Given the description of an element on the screen output the (x, y) to click on. 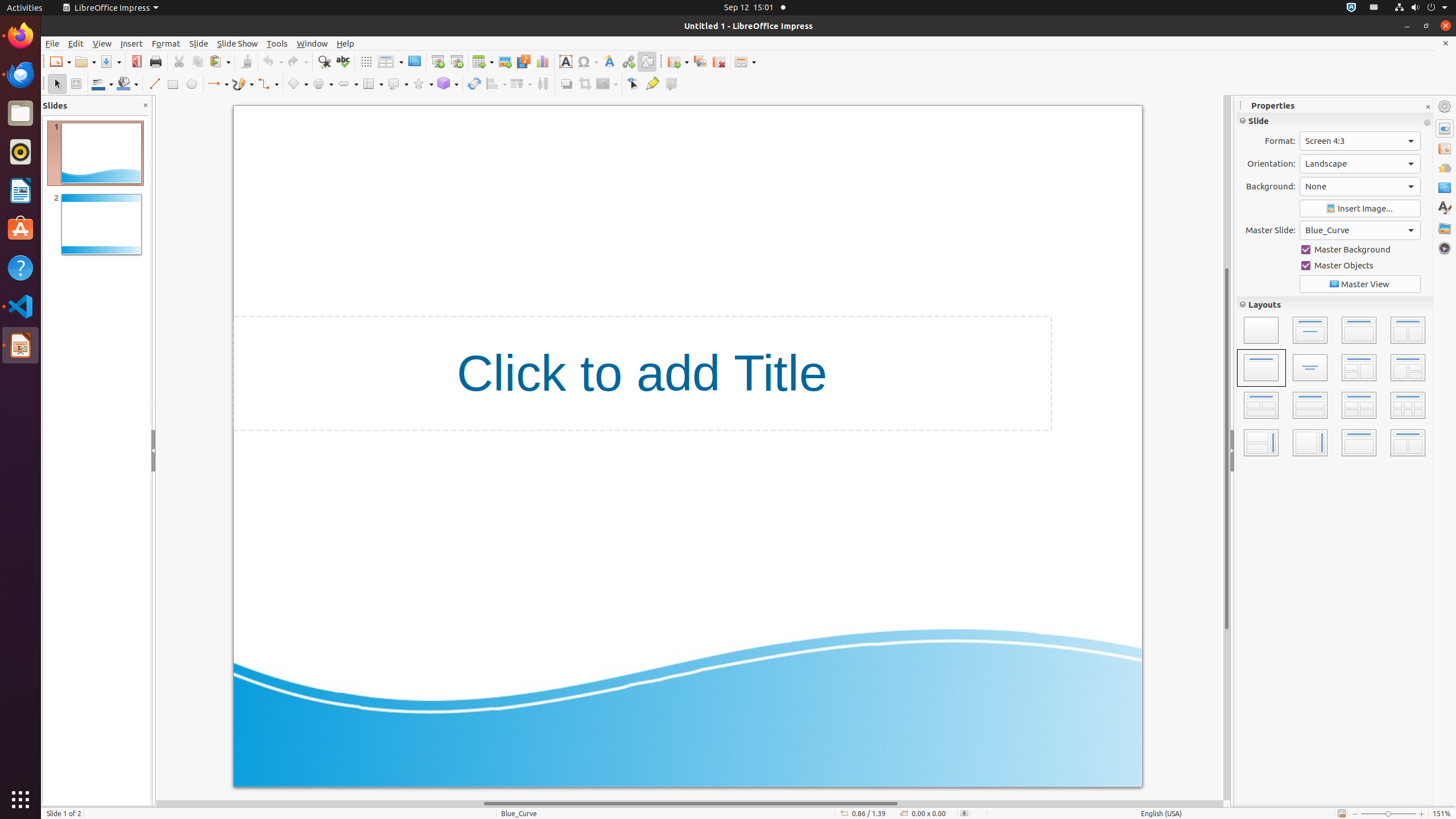
Symbol Element type: push-button (587, 61)
Visual Studio Code Element type: push-button (20, 306)
Master Slides Element type: radio-button (1444, 188)
Print Element type: push-button (155, 61)
Toggle Extrusion Element type: push-button (670, 83)
